Given the description of an element on the screen output the (x, y) to click on. 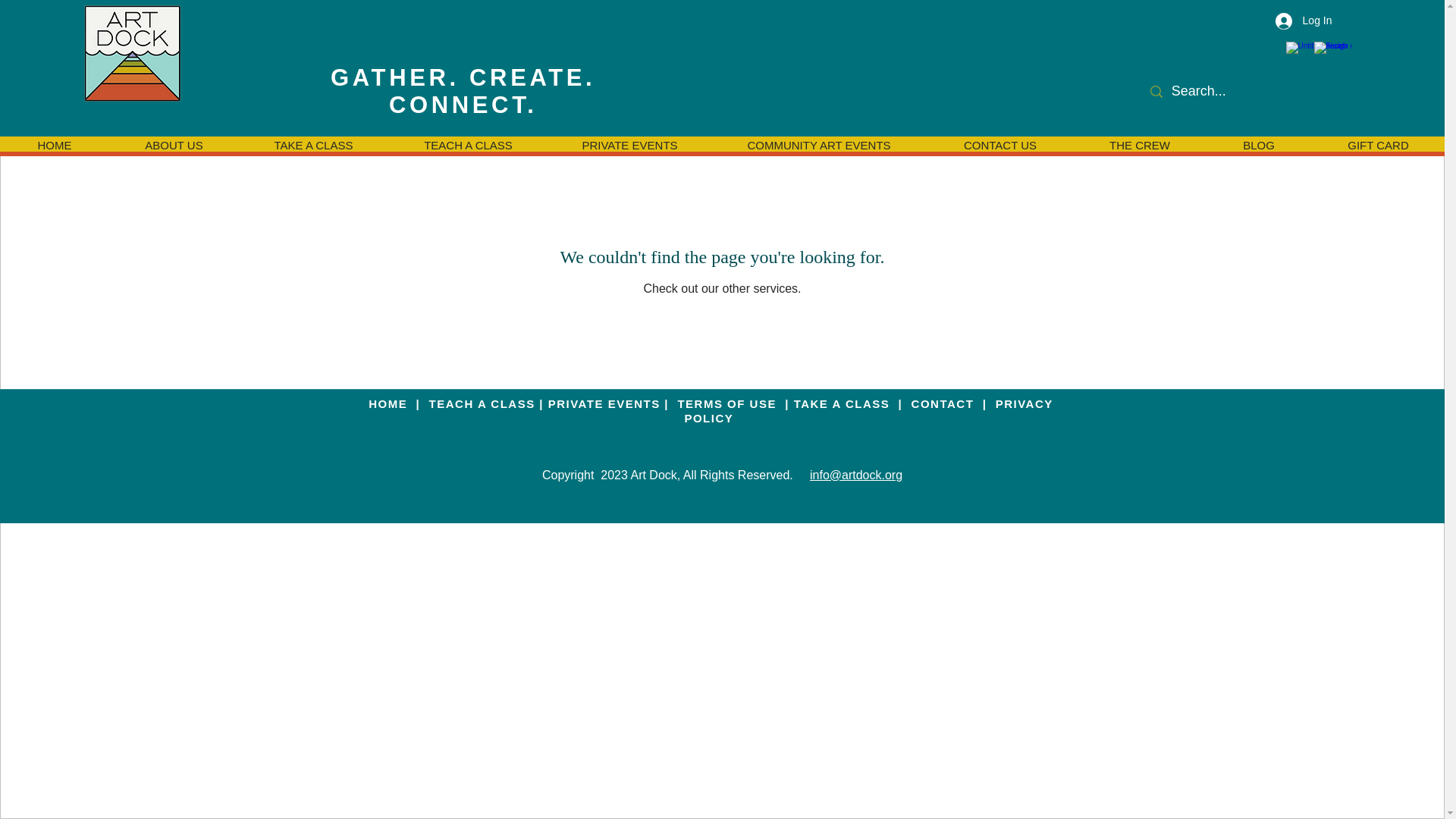
THE CREW (1139, 144)
TERMS OF USE (726, 403)
CONTACT US (1000, 144)
TEACH A CLASS (480, 403)
PRIVATE EVENTS (629, 144)
TAKE A CLASS (313, 144)
BLOG (1258, 144)
PRIVACY POLICY (868, 411)
TAKE A CLASS  (843, 403)
HOME  (390, 403)
